Given the description of an element on the screen output the (x, y) to click on. 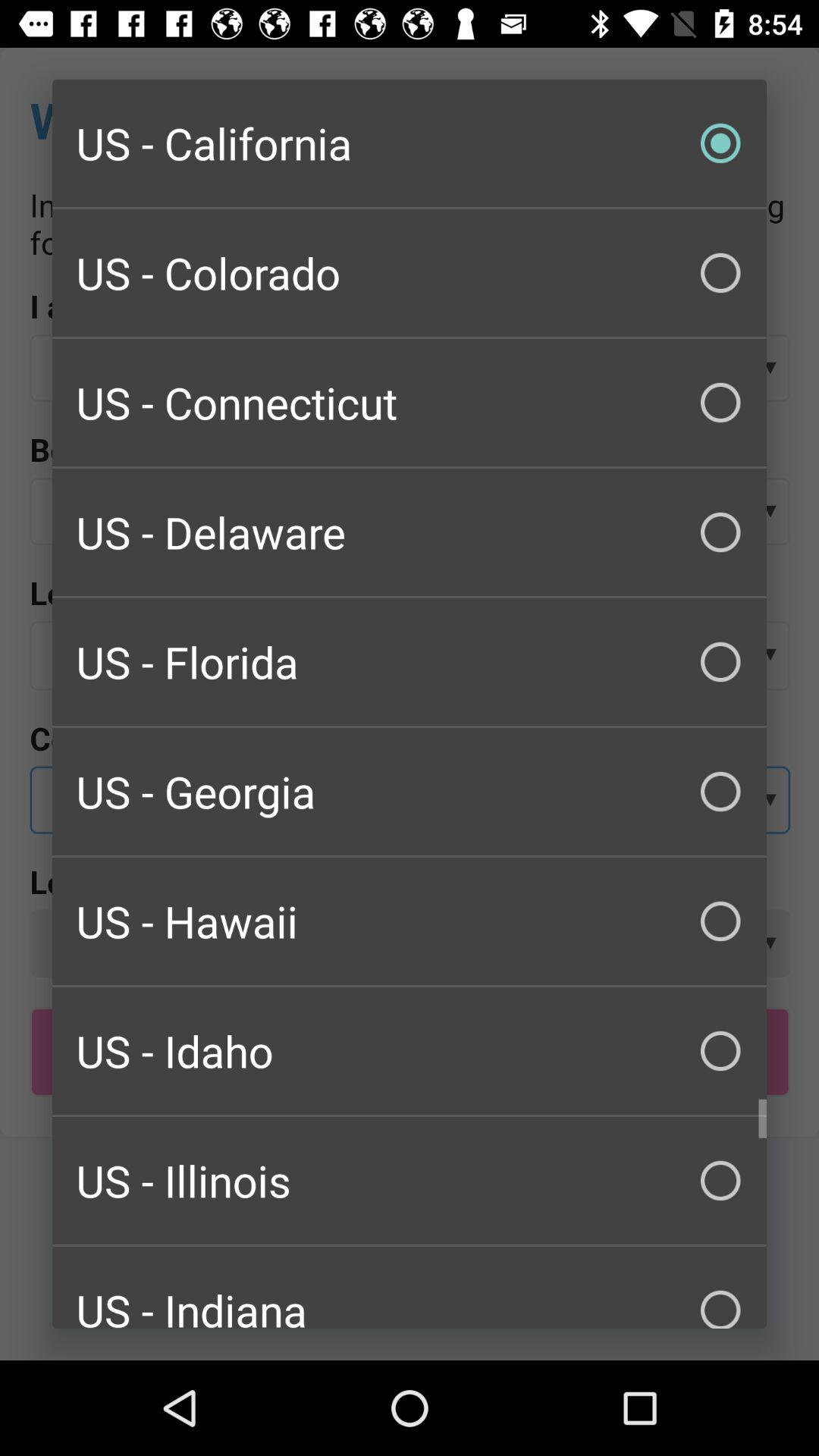
choose the us - california checkbox (409, 143)
